Given the description of an element on the screen output the (x, y) to click on. 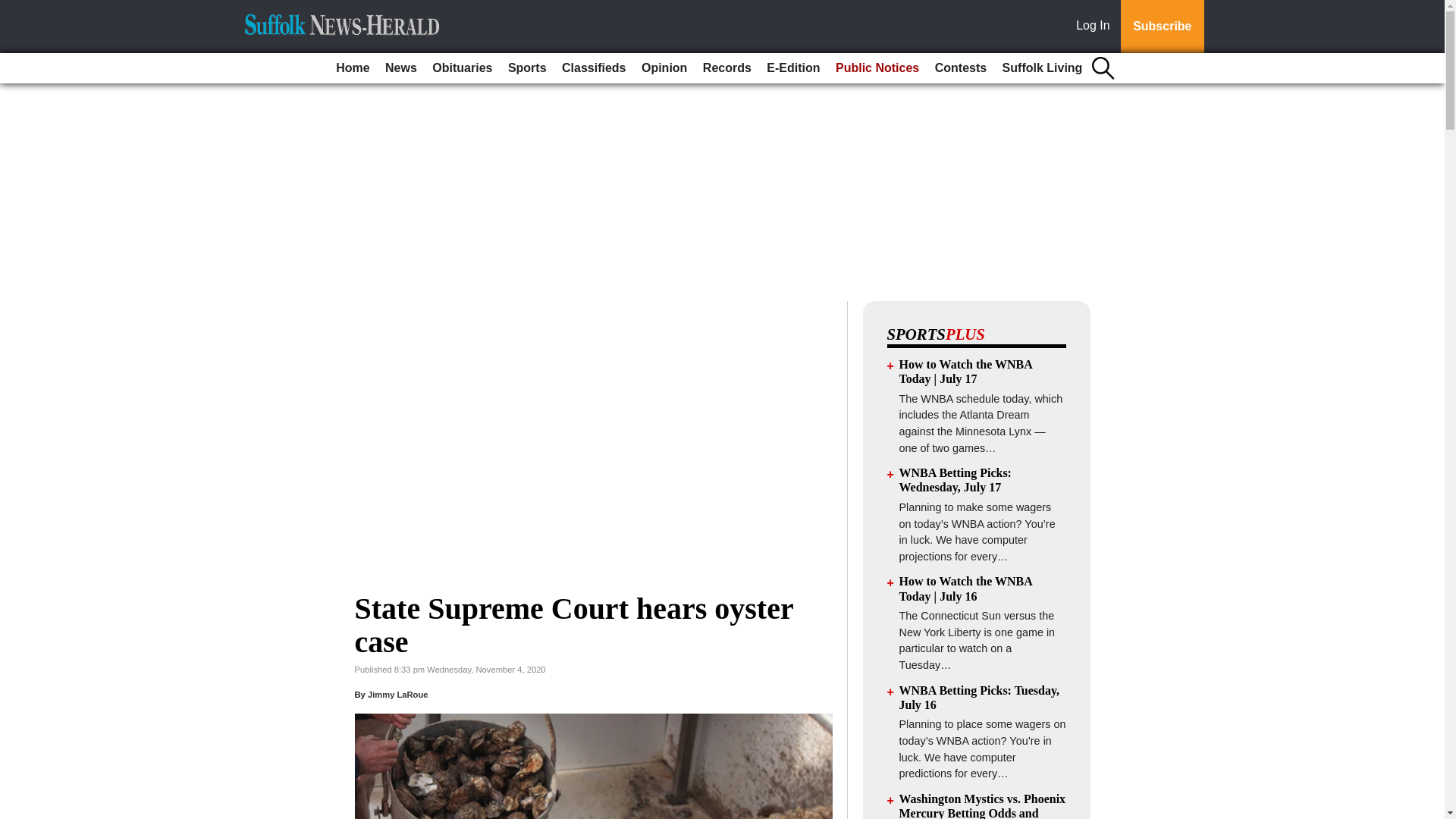
Public Notices (876, 68)
Suffolk Living (1042, 68)
Opinion (663, 68)
E-Edition (792, 68)
WNBA Betting Picks: Tuesday, July 16 (979, 697)
Obituaries (461, 68)
Records (727, 68)
Sports (527, 68)
Jimmy LaRoue (398, 694)
News (400, 68)
WNBA Betting Picks: Wednesday, July 17 (955, 479)
Go (13, 9)
Home (352, 68)
Classifieds (593, 68)
Subscribe (1162, 26)
